Given the description of an element on the screen output the (x, y) to click on. 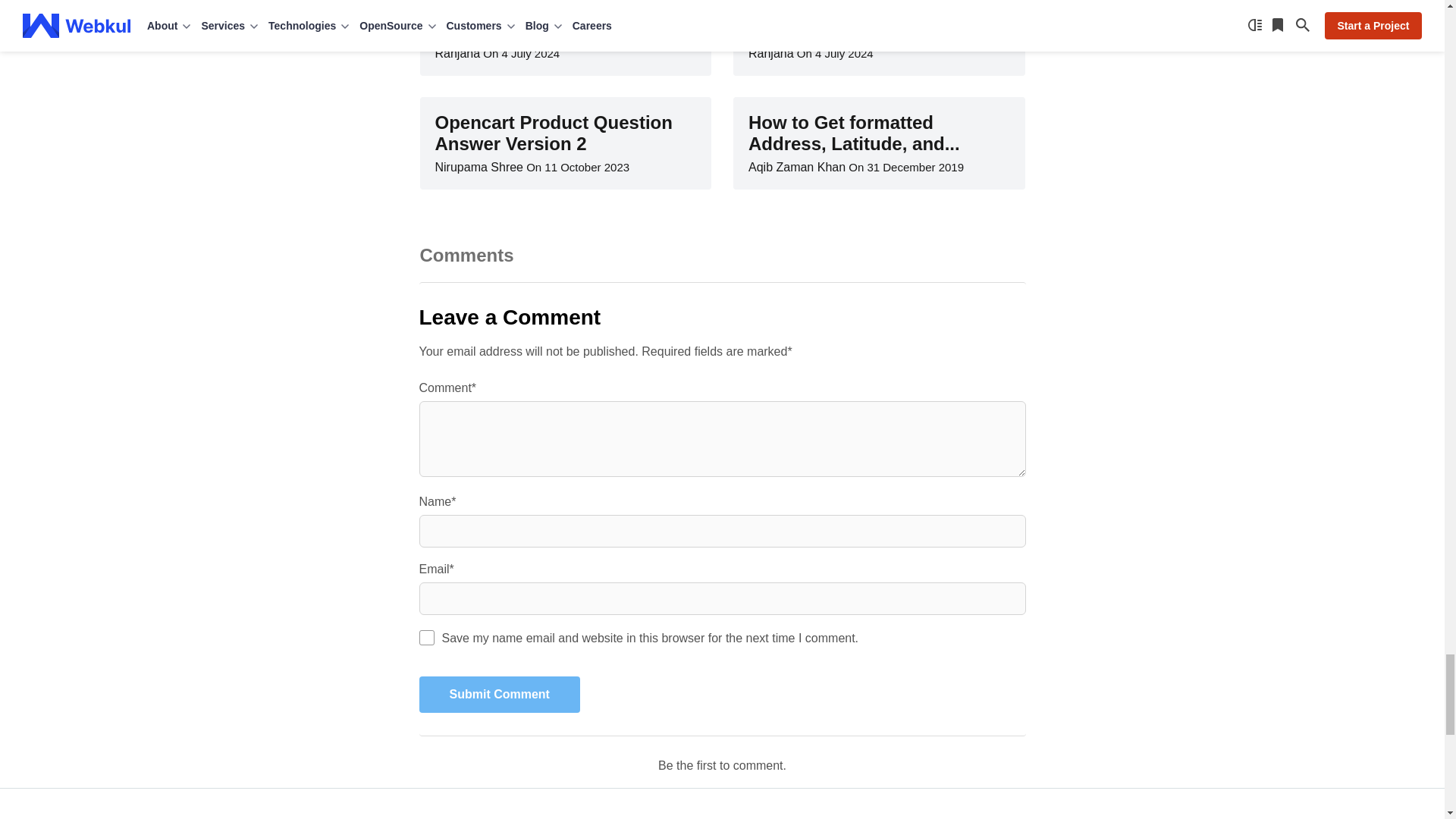
Submit Comment (499, 694)
